Given the description of an element on the screen output the (x, y) to click on. 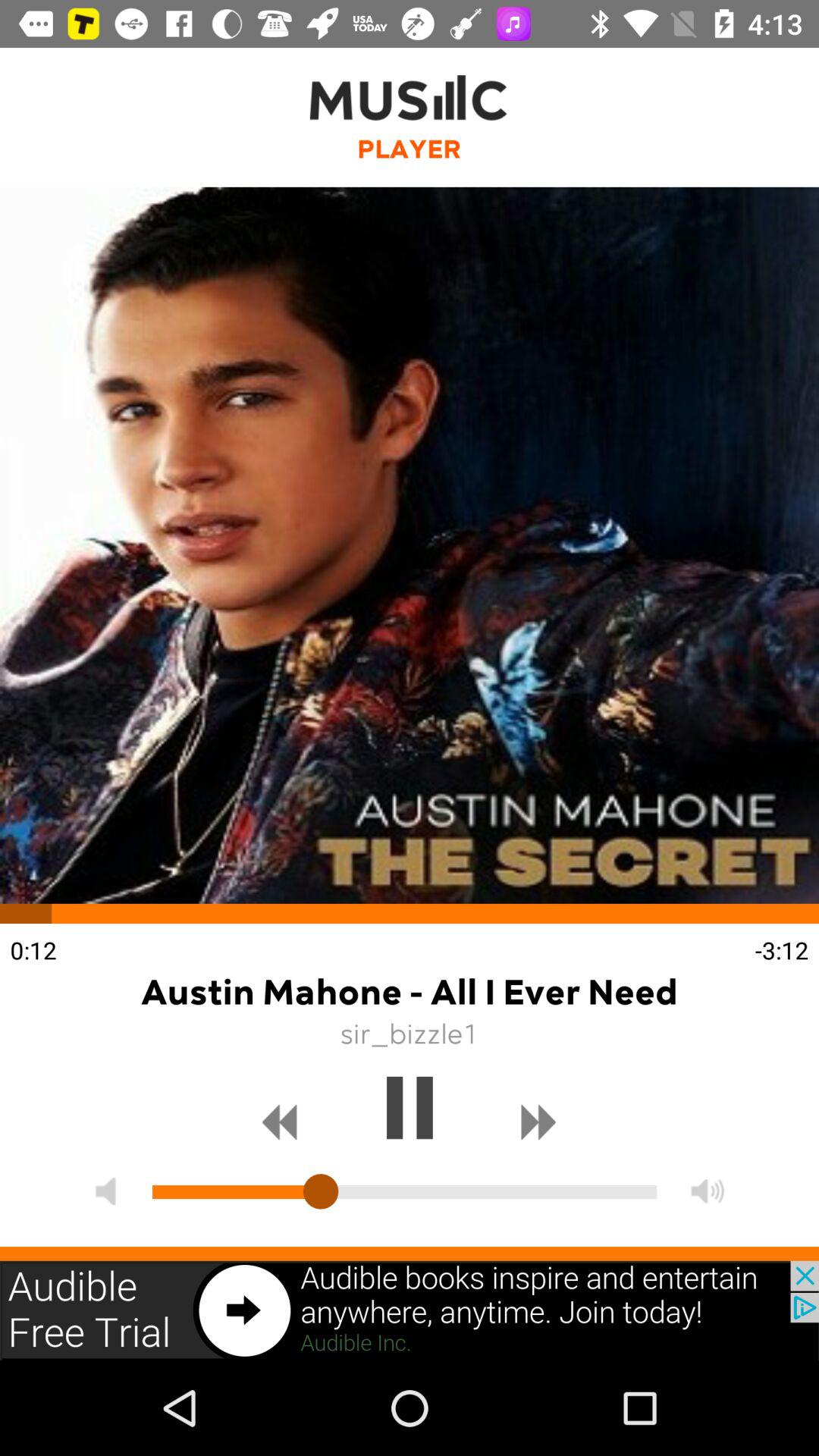
previews button (280, 1122)
